Given the description of an element on the screen output the (x, y) to click on. 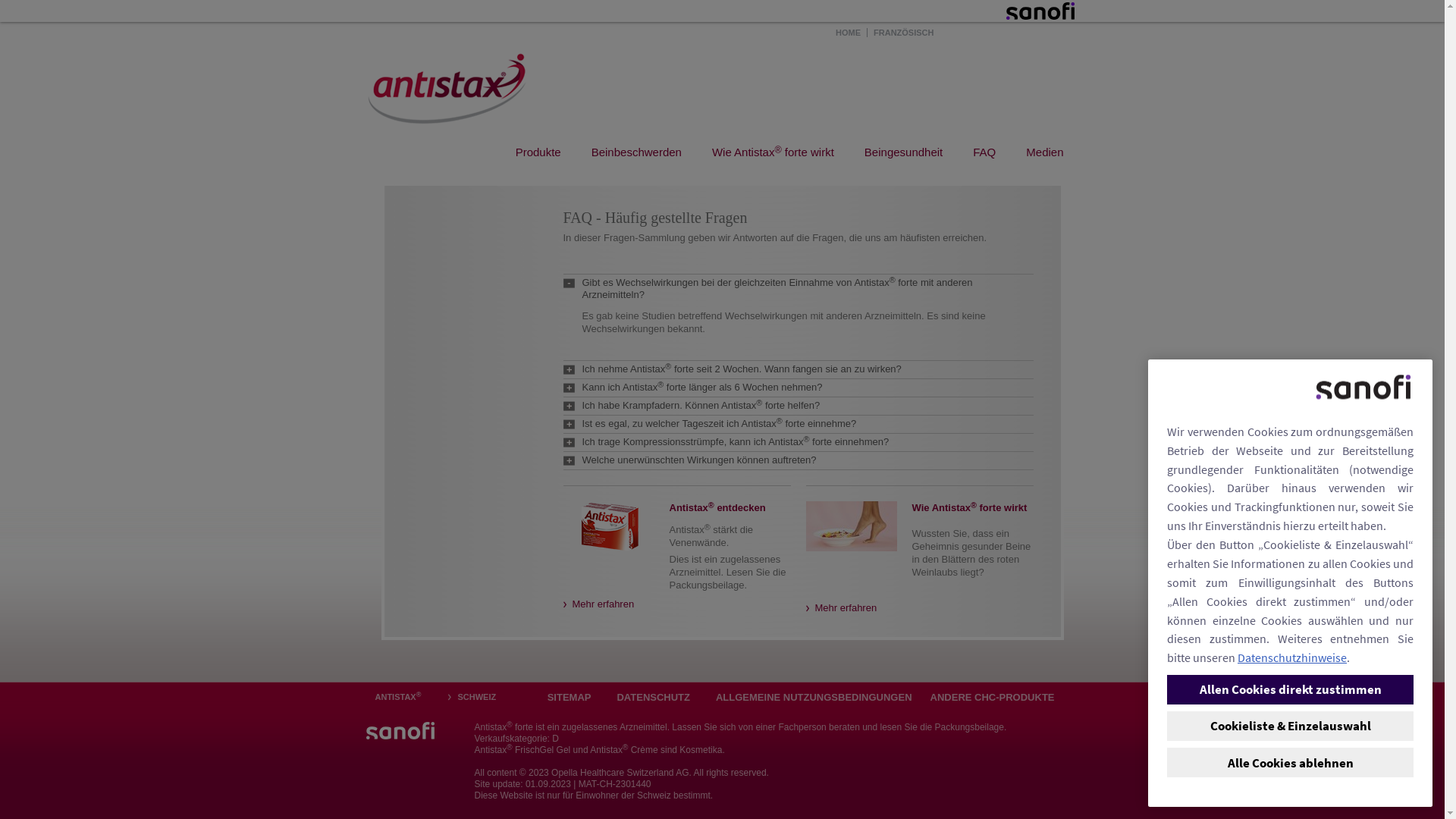
Antistax - Healthy legs Element type: hover (850, 525)
ALLGEMEINE NUTZUNGSBEDINGUNGEN Element type: text (810, 697)
Sanofi Element type: hover (449, 83)
Produkte Element type: text (538, 151)
Mehr erfahren Element type: text (840, 608)
Medien Element type: text (1044, 151)
DATENSCHUTZ Element type: text (649, 697)
Learn how Element type: hover (850, 539)
ANDERE CHC-PRODUKTE Element type: text (992, 696)
Datenschutzhinweise Element type: text (1291, 657)
Beingesundheit Element type: text (903, 151)
Mehr erfahren Element type: hover (607, 539)
SITEMAP Element type: text (569, 697)
Mehr erfahren Element type: text (597, 603)
Sanofi Element type: hover (399, 730)
Sanofi Element type: hover (1039, 10)
Allen Cookies direkt zustimmen Element type: text (1290, 688)
Cookieliste & Einzelauswahl Element type: text (1290, 725)
Alle Cookies ablehnen Element type: text (1290, 761)
HOME Element type: text (847, 32)
FAQ Element type: text (983, 151)
Beinbeschwerden Element type: text (636, 151)
